Given the description of an element on the screen output the (x, y) to click on. 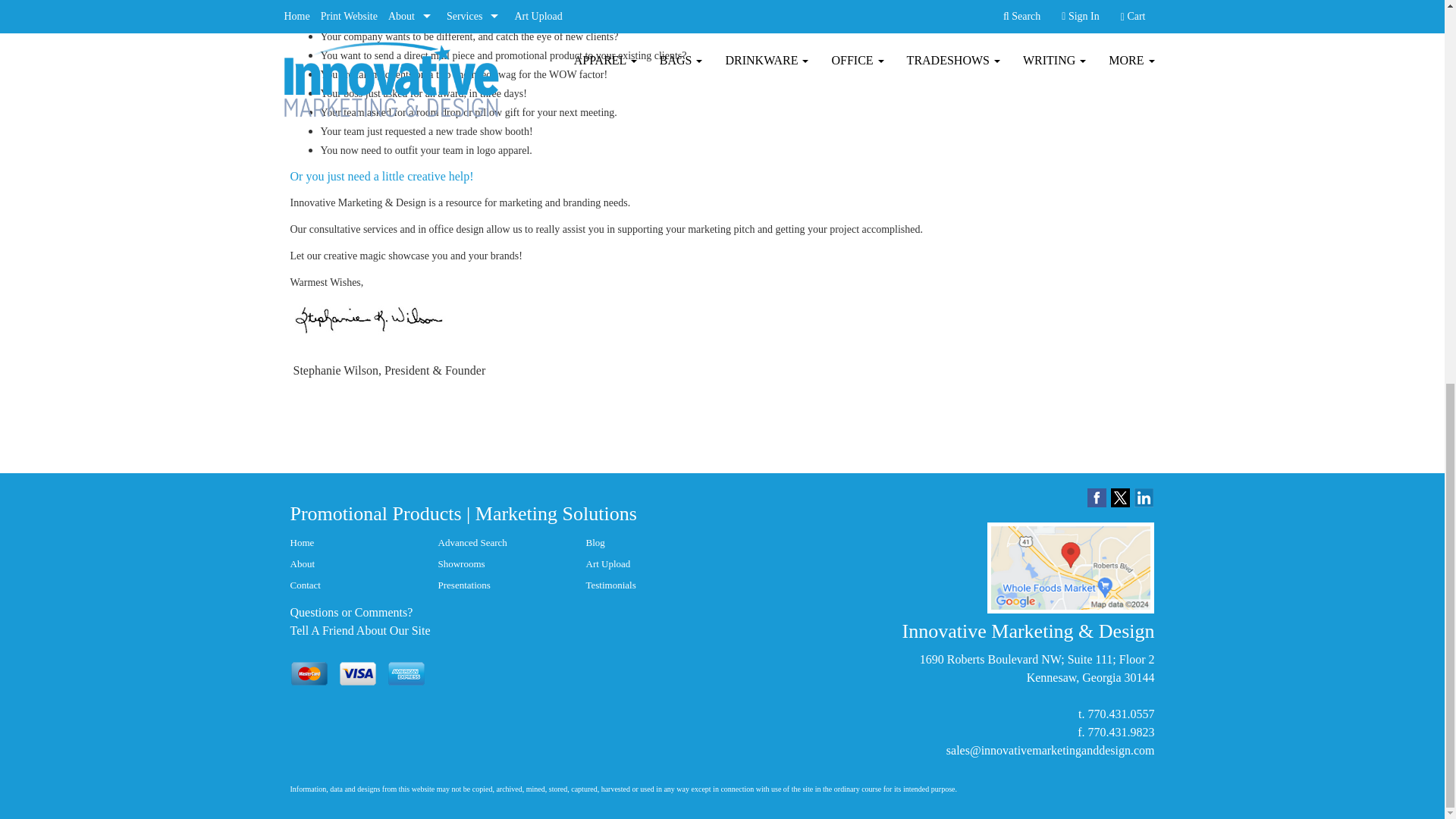
Visit us on Facebook (1096, 496)
Visit us on Twitter (1119, 496)
Visit us on LinkedIn (1143, 496)
Click for a larger map (1070, 567)
